Given the description of an element on the screen output the (x, y) to click on. 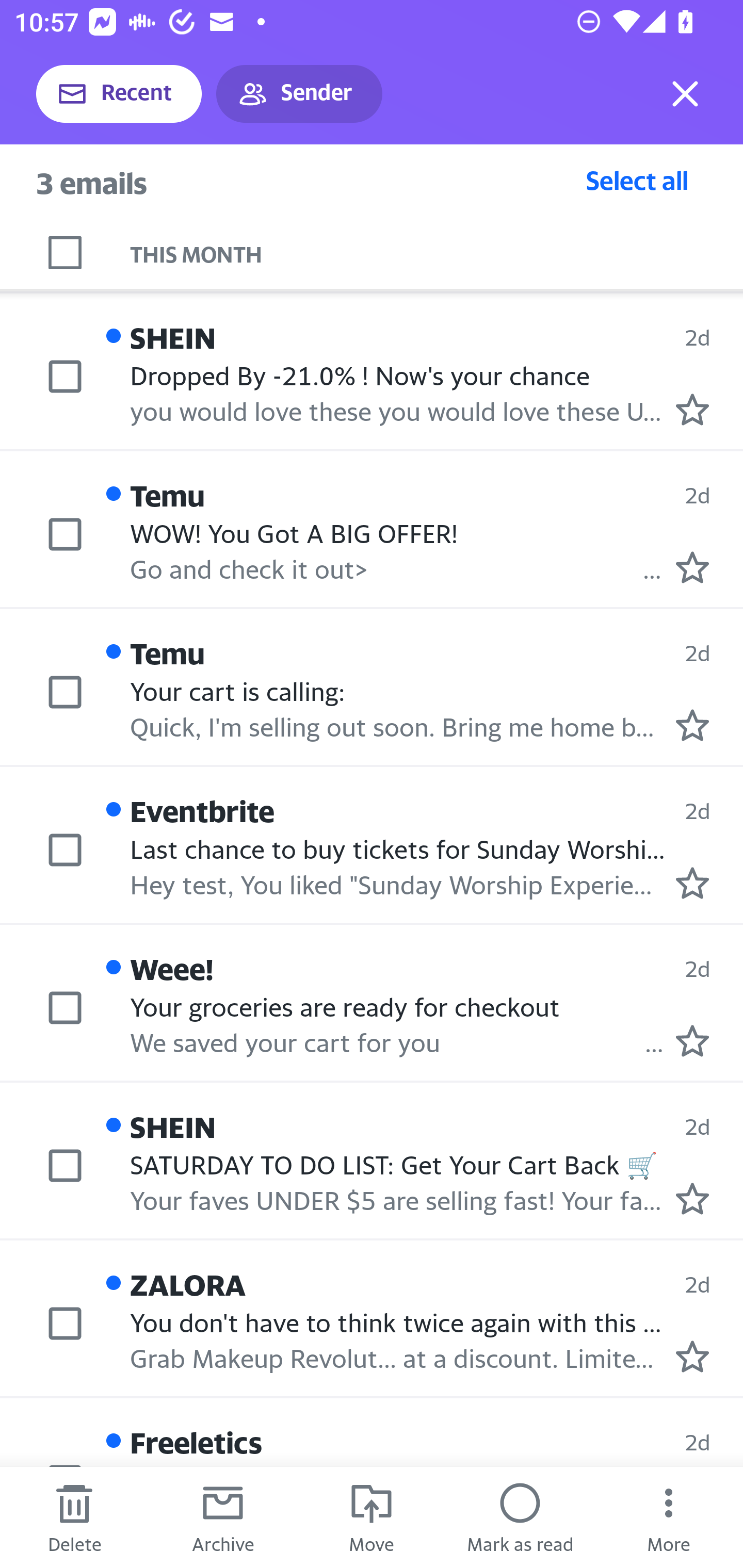
Sender (299, 93)
Exit selection mode (684, 93)
Select all (637, 180)
Mark as starred. (692, 410)
Mark as starred. (692, 566)
Mark as starred. (692, 725)
Mark as starred. (692, 883)
Mark as starred. (692, 1040)
Mark as starred. (692, 1198)
Mark as starred. (692, 1357)
Delete (74, 1517)
Archive (222, 1517)
Move (371, 1517)
Mark as read (519, 1517)
More (668, 1517)
